Given the description of an element on the screen output the (x, y) to click on. 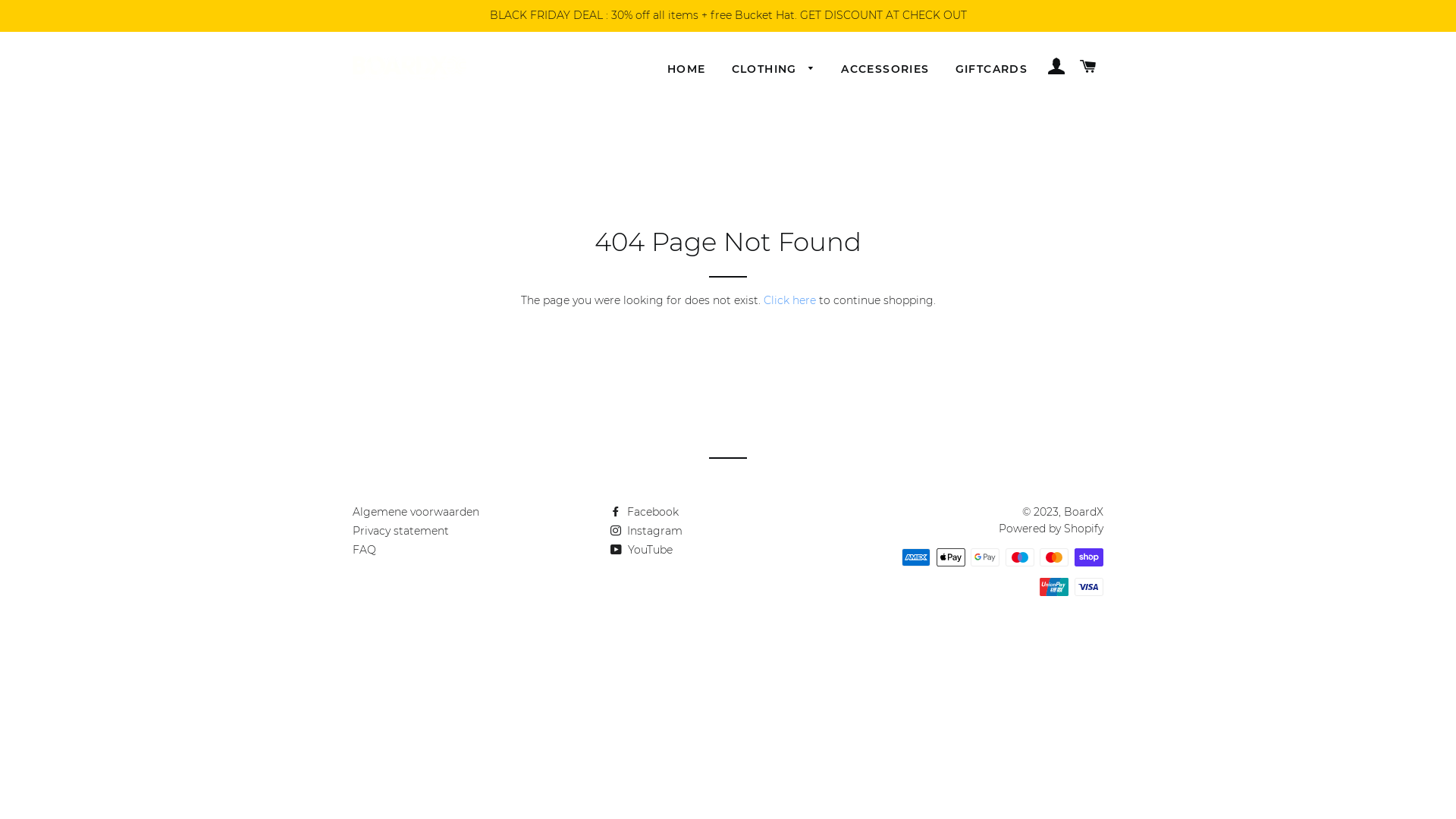
Privacy statement Element type: text (400, 530)
BoardX Element type: text (1083, 511)
CART Element type: text (1088, 67)
FAQ Element type: text (364, 549)
GIFTCARDS Element type: text (991, 69)
ACCESSORIES Element type: text (884, 69)
LOG IN Element type: text (1055, 67)
CLOTHING Element type: text (773, 69)
HOME Element type: text (686, 69)
YouTube Element type: text (641, 549)
Algemene voorwaarden Element type: text (415, 511)
Powered by Shopify Element type: text (1050, 528)
Facebook Element type: text (644, 511)
Instagram Element type: text (646, 530)
Click here Element type: text (788, 300)
